Given the description of an element on the screen output the (x, y) to click on. 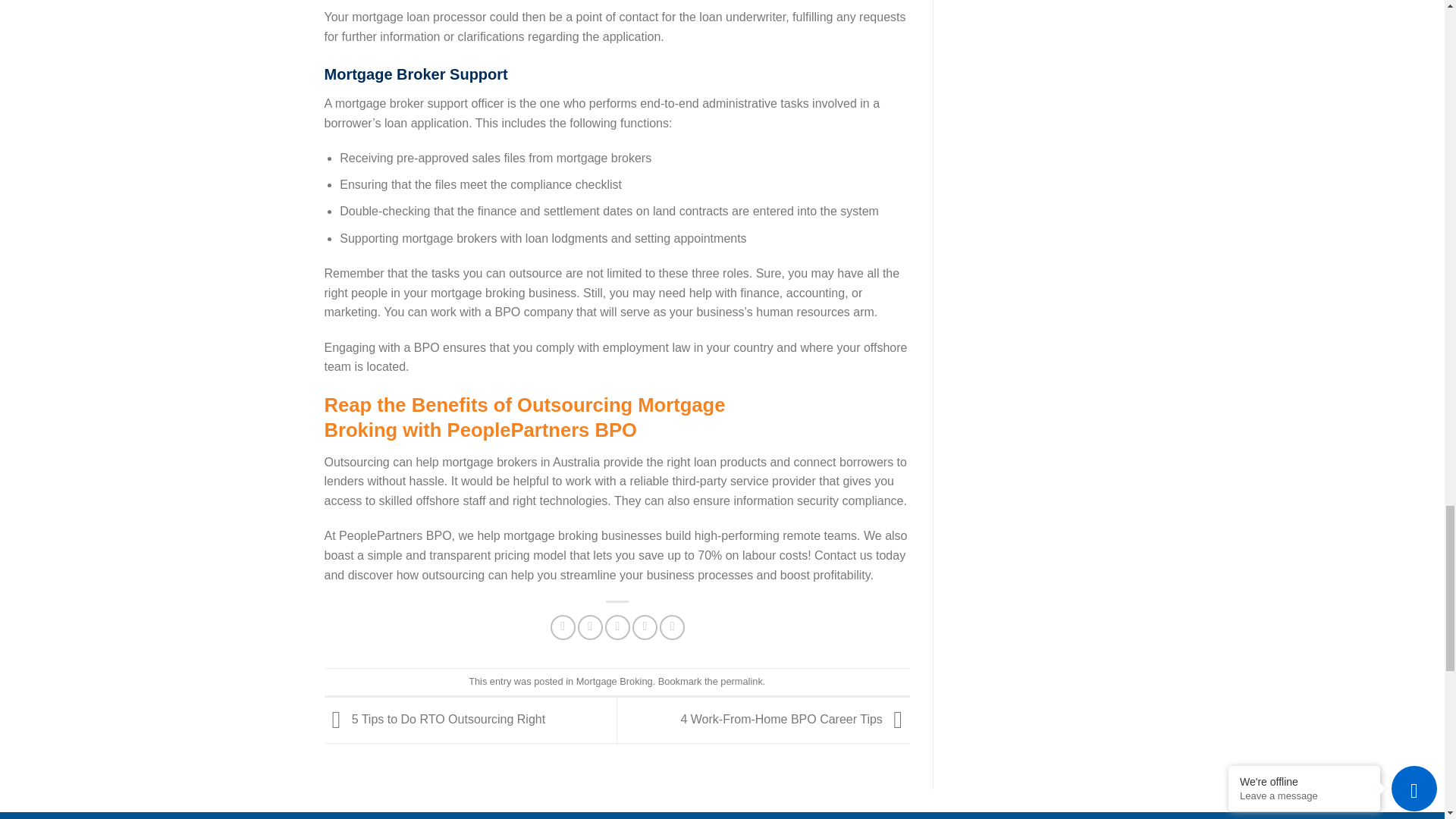
Share on LinkedIn (671, 627)
Email to a Friend (617, 627)
Share on Twitter (590, 627)
Share on Facebook (562, 627)
Pin on Pinterest (644, 627)
